Given the description of an element on the screen output the (x, y) to click on. 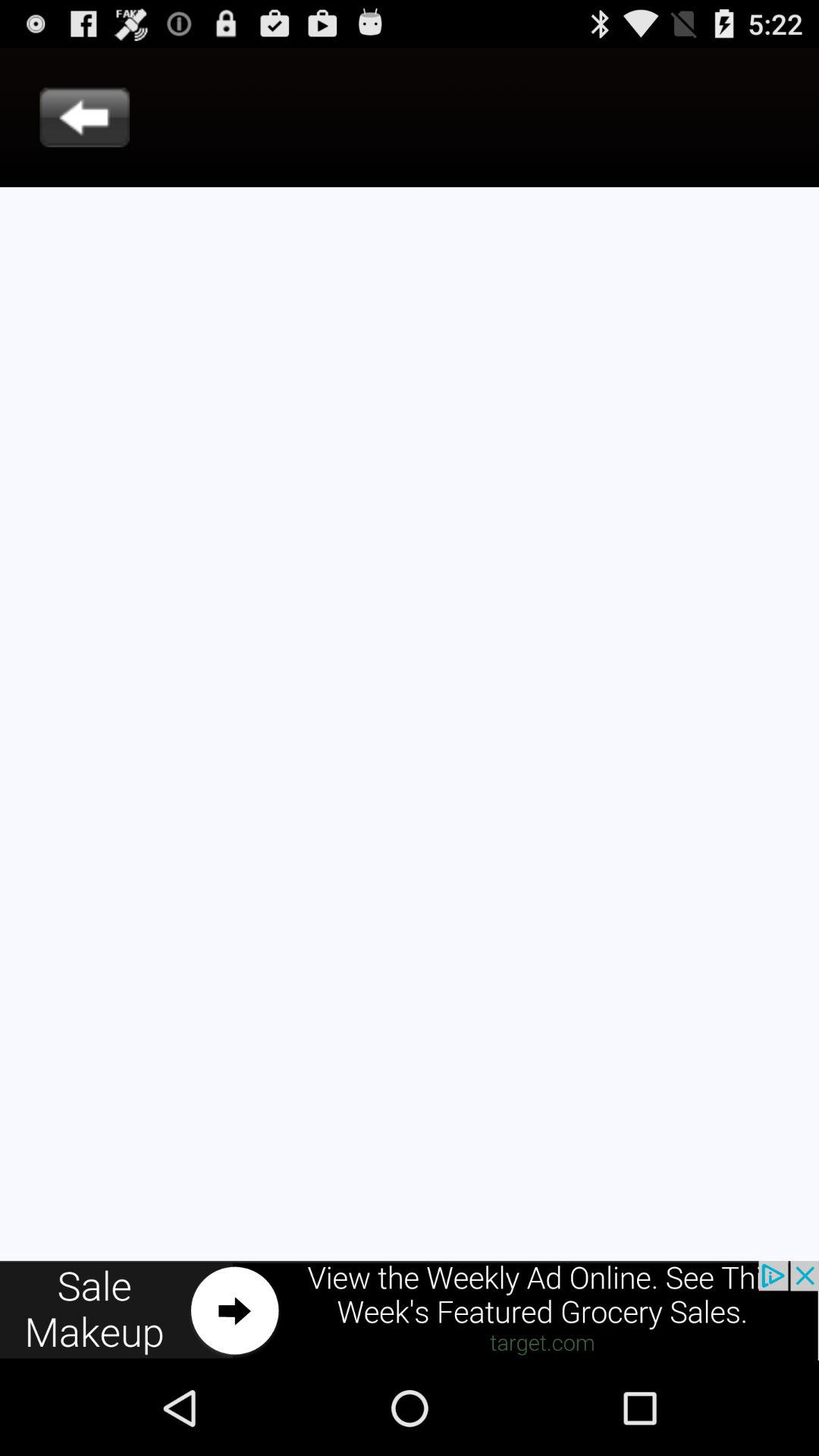
go back (84, 117)
